Given the description of an element on the screen output the (x, y) to click on. 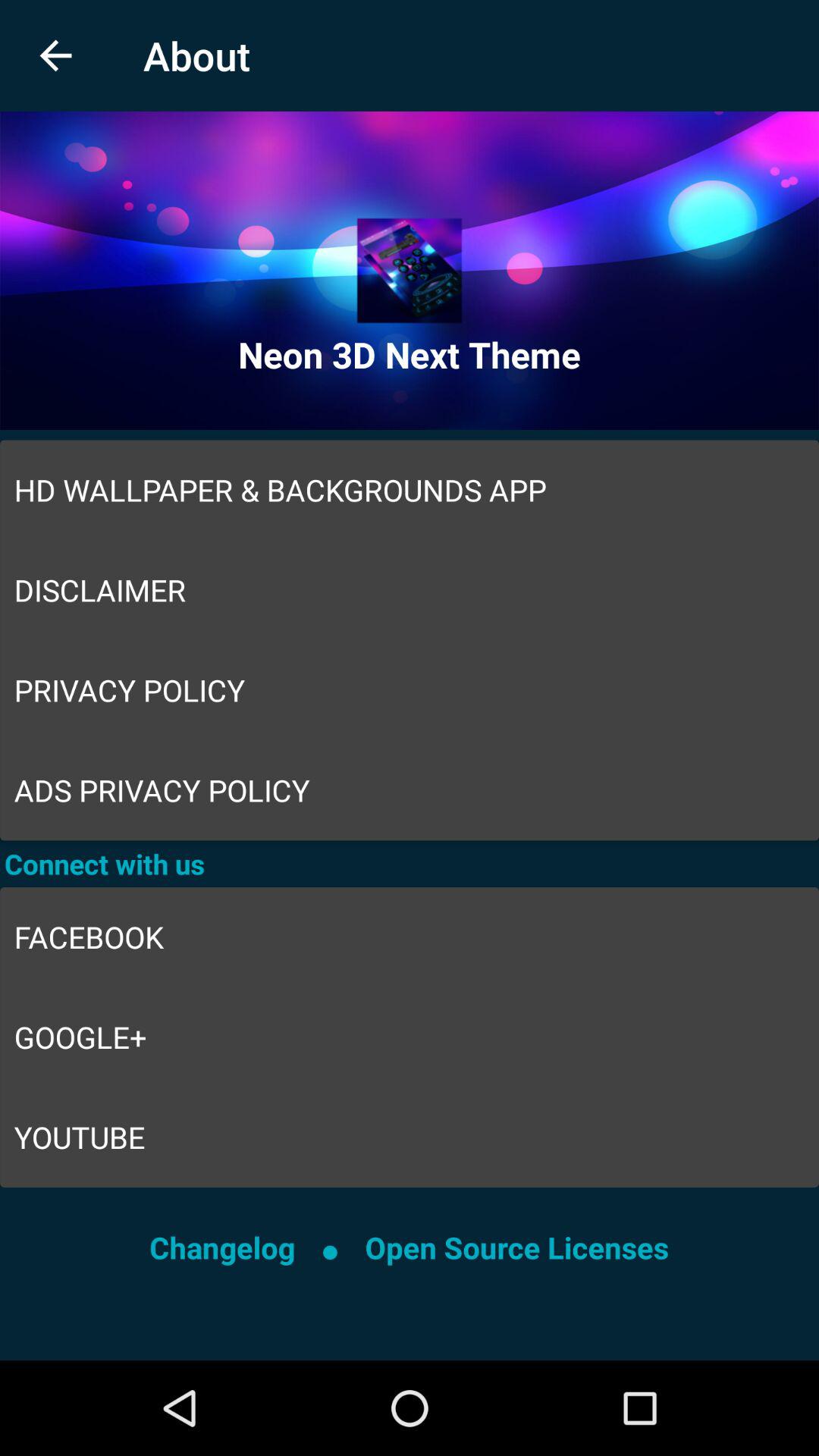
swipe to the hd wallpaper backgrounds item (409, 490)
